Given the description of an element on the screen output the (x, y) to click on. 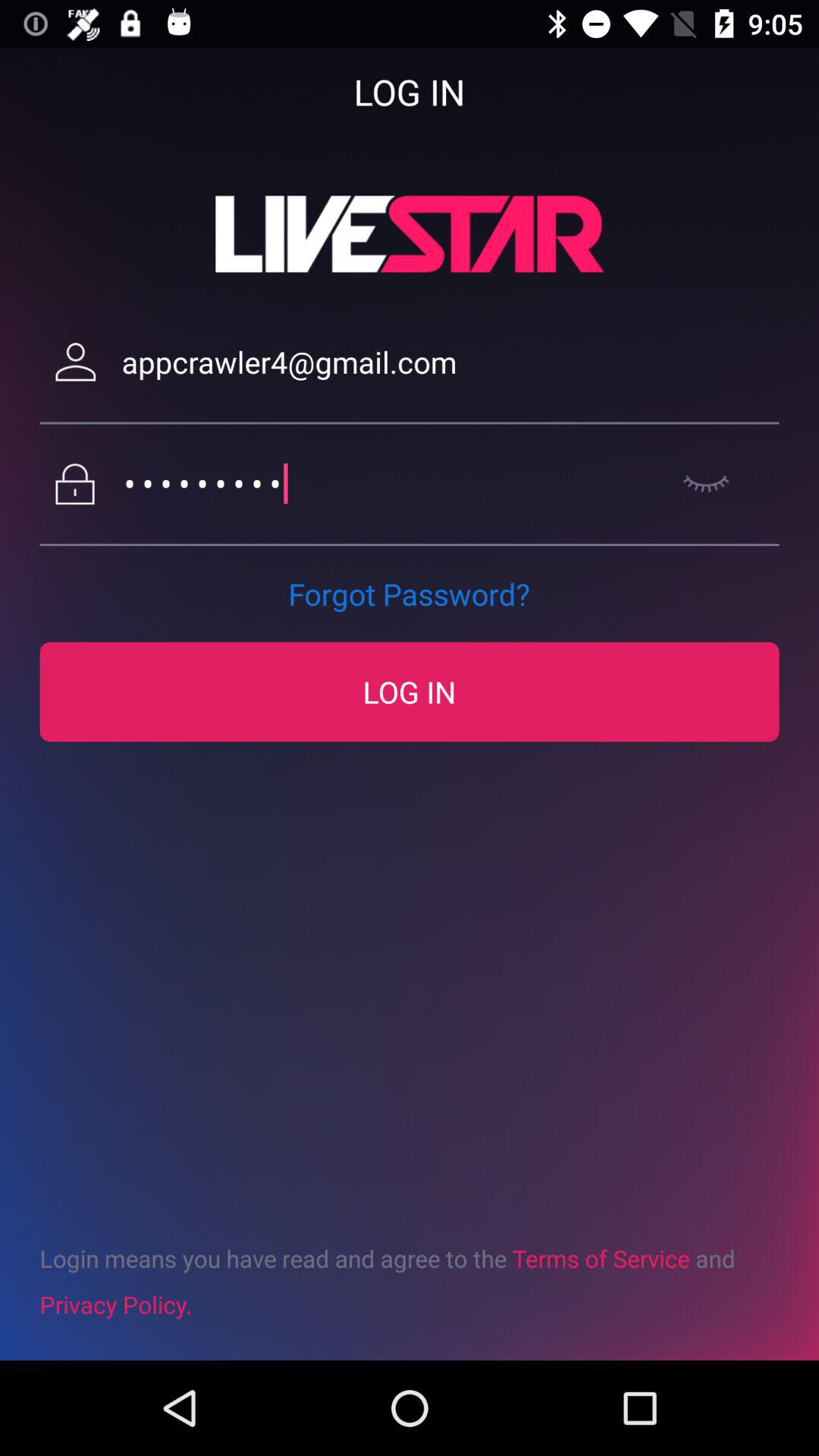
show password (706, 483)
